Given the description of an element on the screen output the (x, y) to click on. 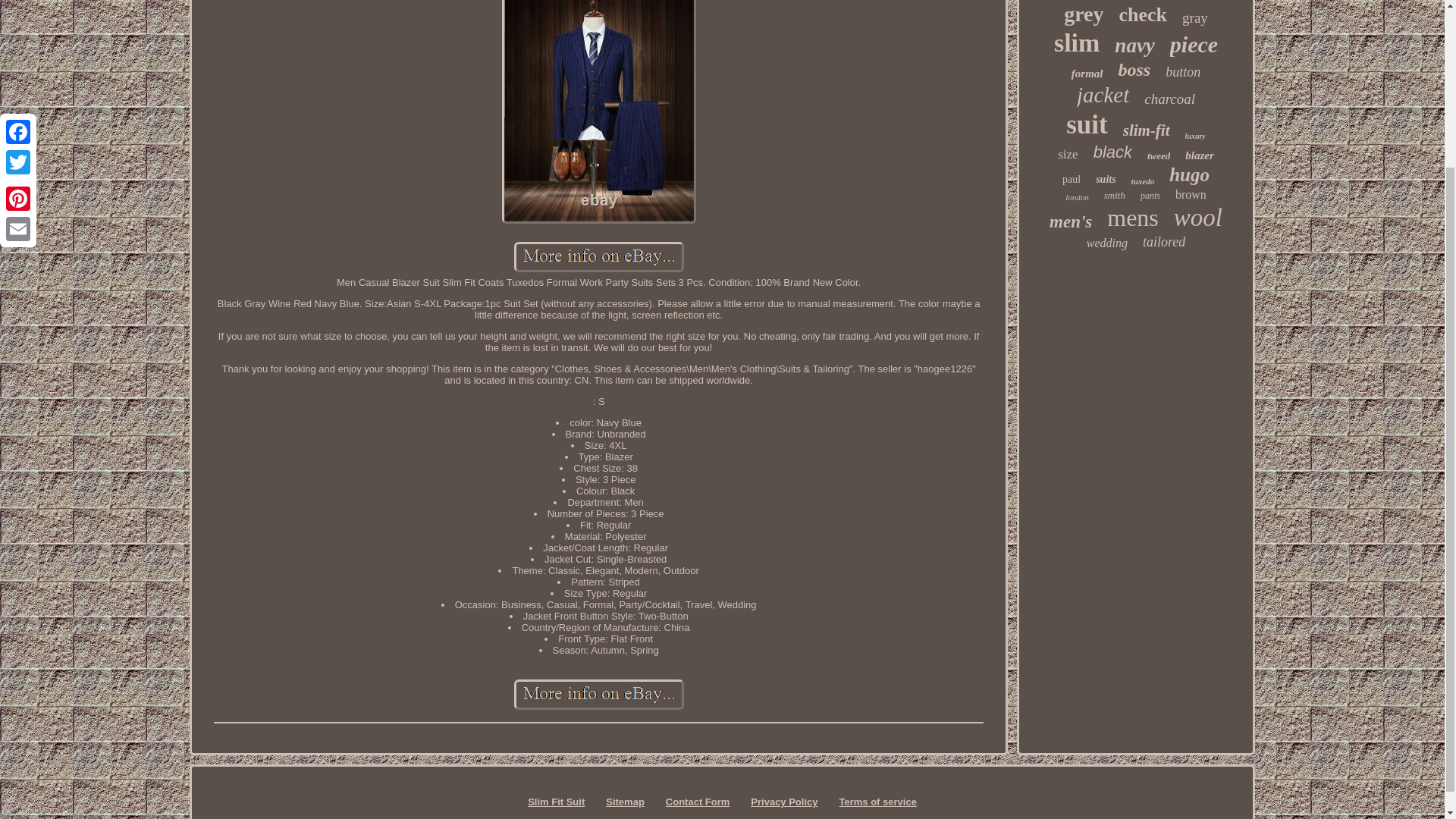
jacket (1103, 94)
piece (1193, 44)
charcoal (1169, 98)
formal (1087, 73)
blazer (1199, 155)
london (1077, 196)
slim-fit (1146, 130)
slim (1076, 42)
